Given the description of an element on the screen output the (x, y) to click on. 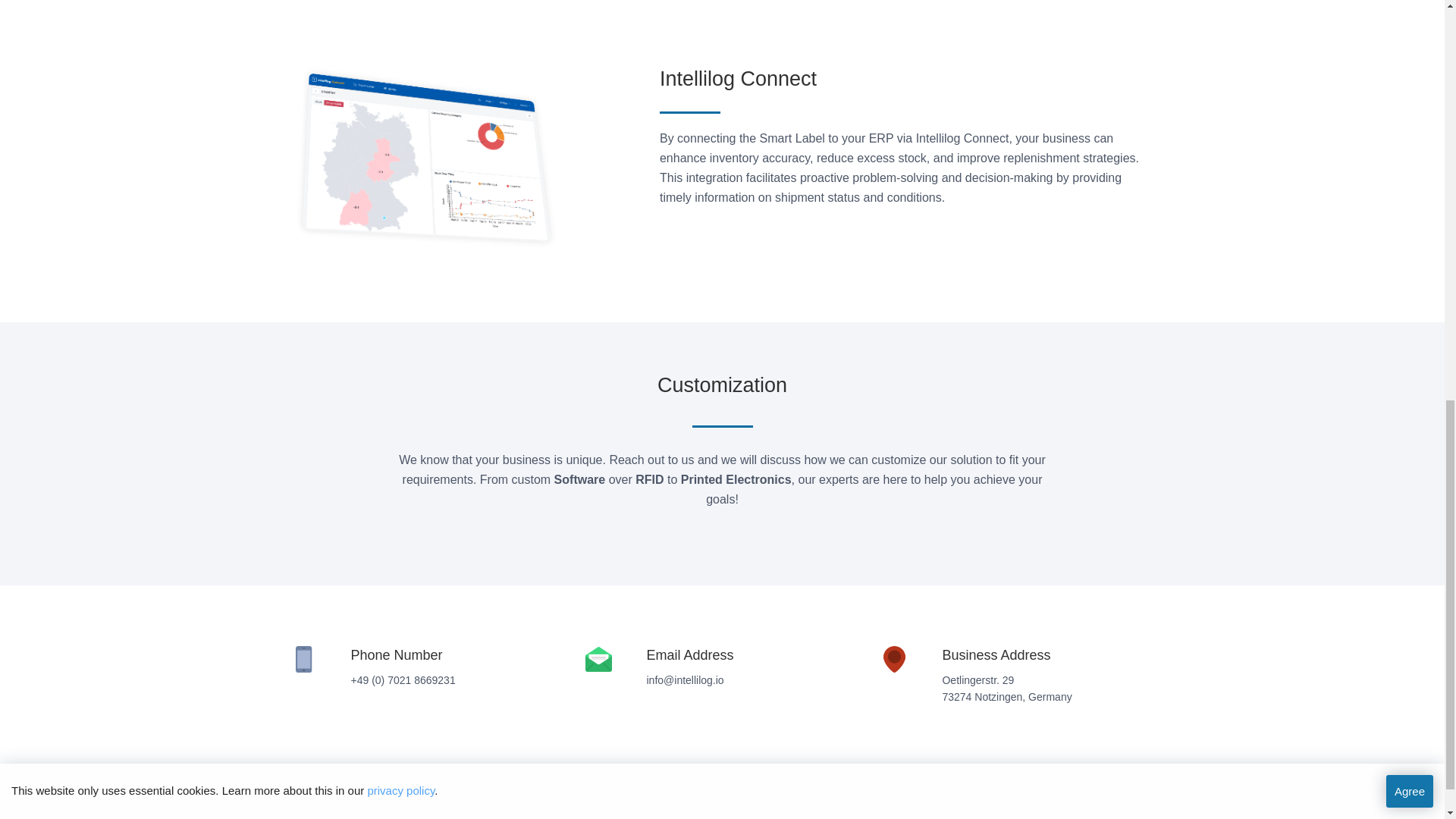
Privacy (715, 816)
Language (764, 816)
Imprint (673, 816)
